Given the description of an element on the screen output the (x, y) to click on. 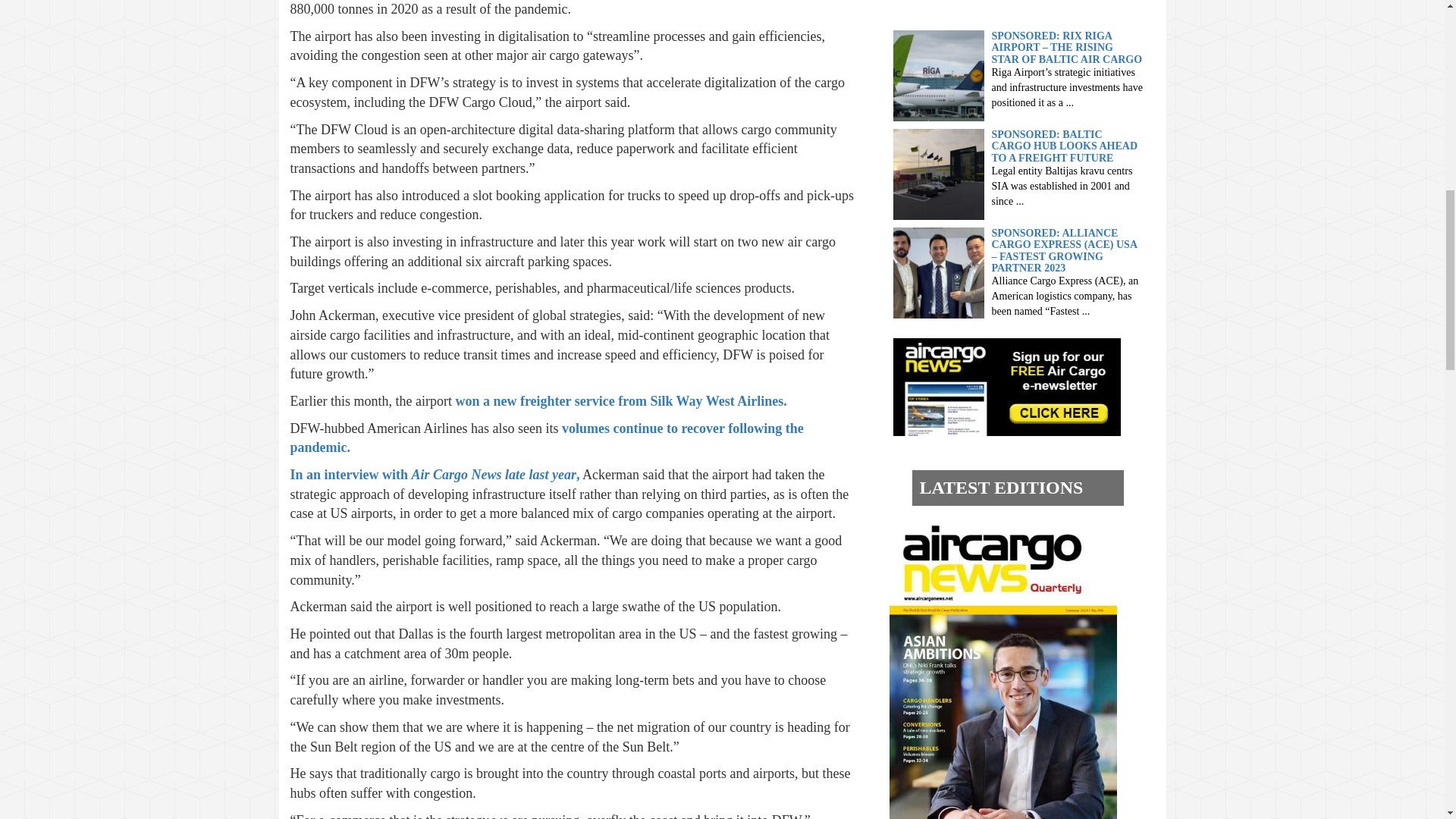
SPONSORED: Baltic Cargo HUB looks ahead to a freight future (938, 173)
3rd party ad content (1010, 5)
